Given the description of an element on the screen output the (x, y) to click on. 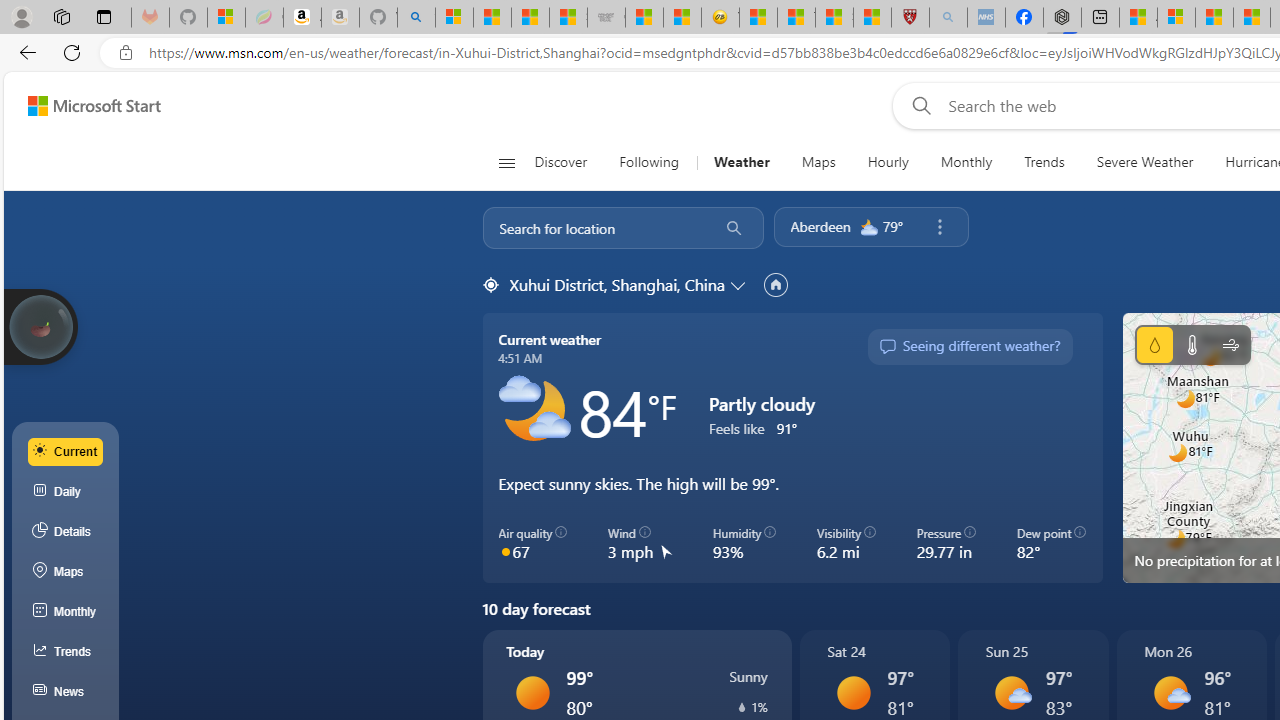
Maps (65, 572)
Pressure 29.77 in (946, 543)
Daily (65, 492)
Join us in planting real trees to help our planet! (40, 327)
